Given the description of an element on the screen output the (x, y) to click on. 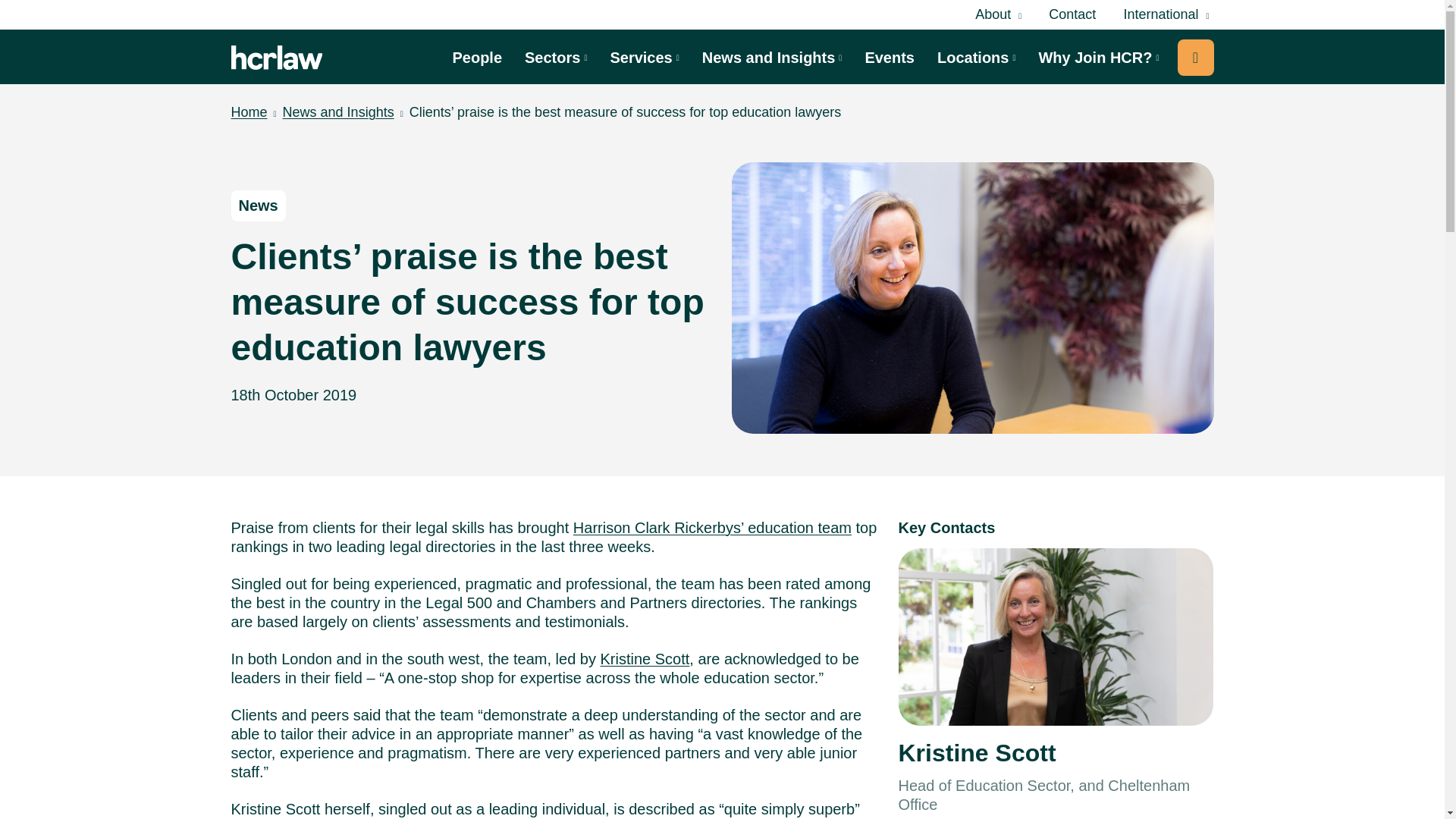
About (998, 14)
Contact (1072, 14)
International (1165, 14)
